Given the description of an element on the screen output the (x, y) to click on. 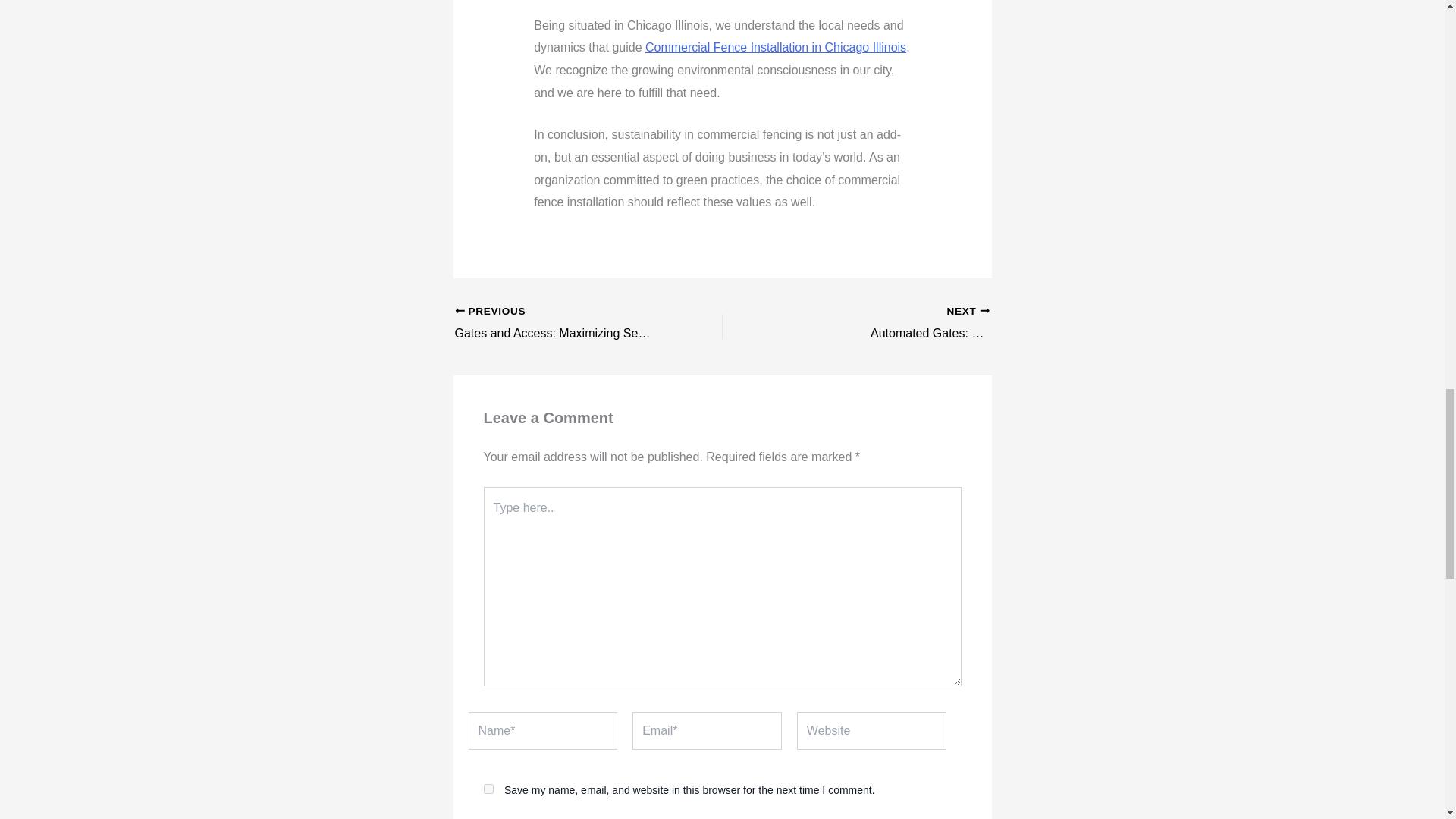
Gates and Access: Maximizing Security with Chain Link (561, 323)
Automated Gates: Convenience and Security (923, 323)
yes (488, 788)
